Given the description of an element on the screen output the (x, y) to click on. 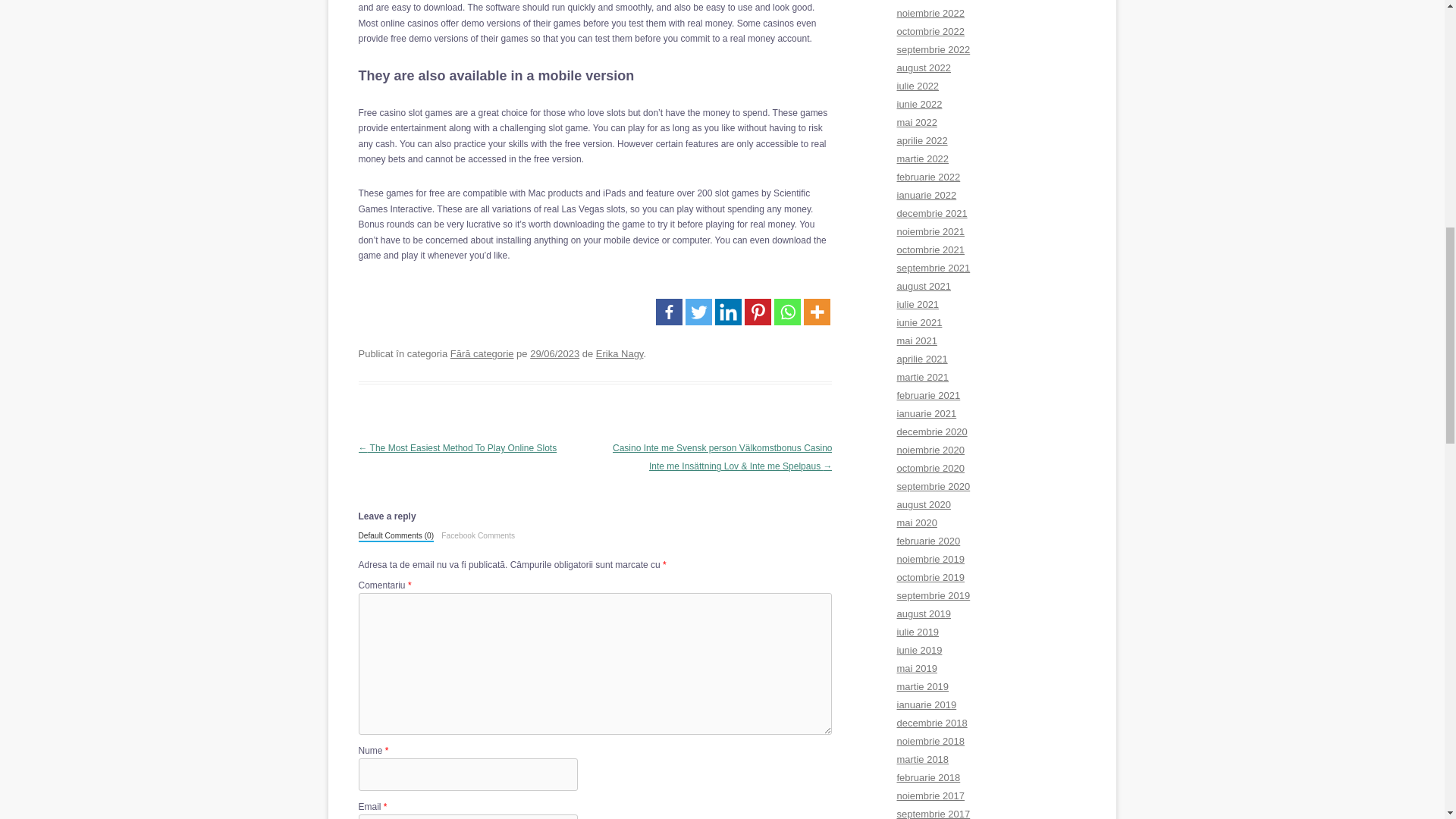
Erika Nagy (619, 353)
Facebook (669, 311)
